Given the description of an element on the screen output the (x, y) to click on. 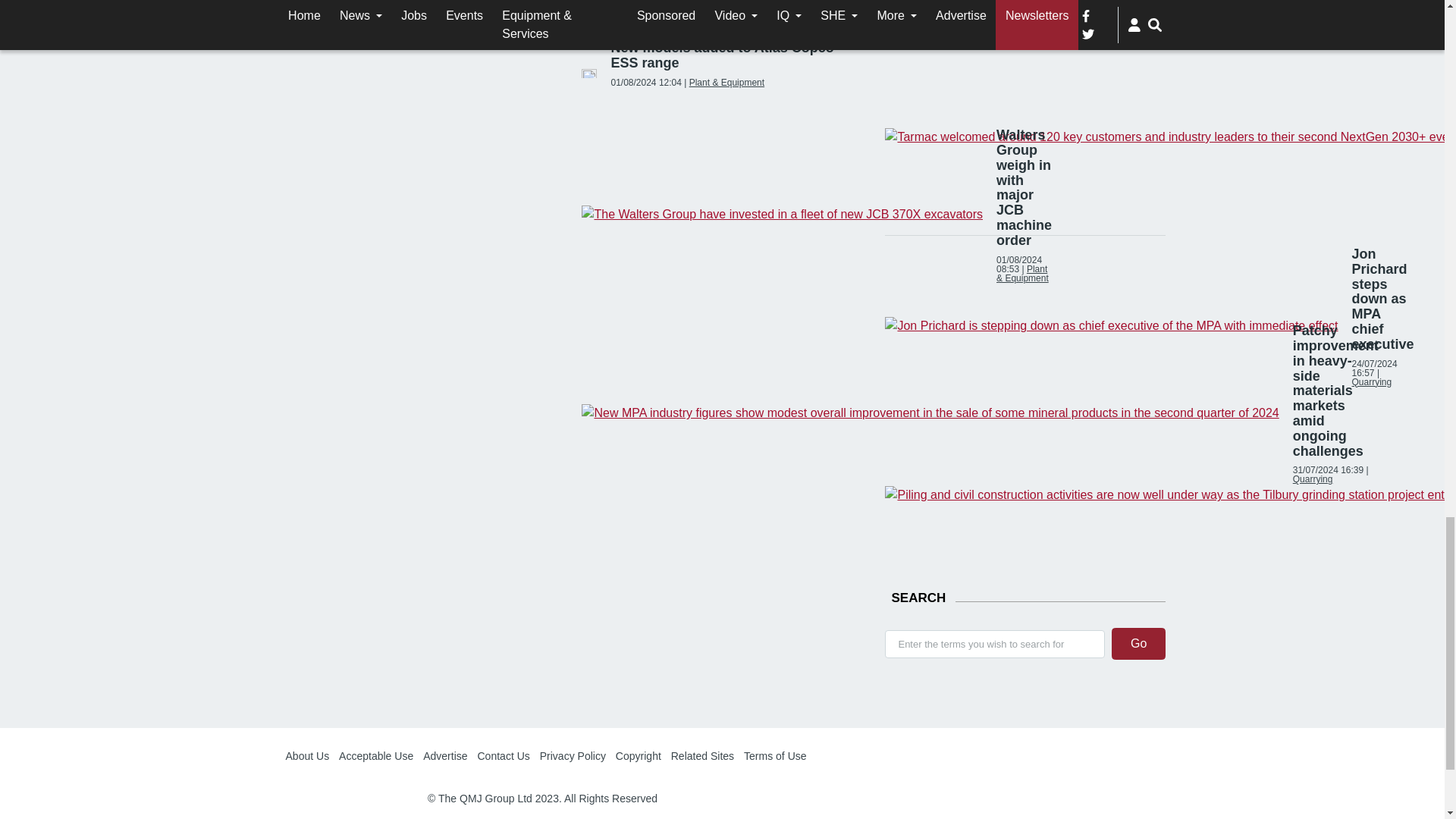
Go (1139, 644)
